Given the description of an element on the screen output the (x, y) to click on. 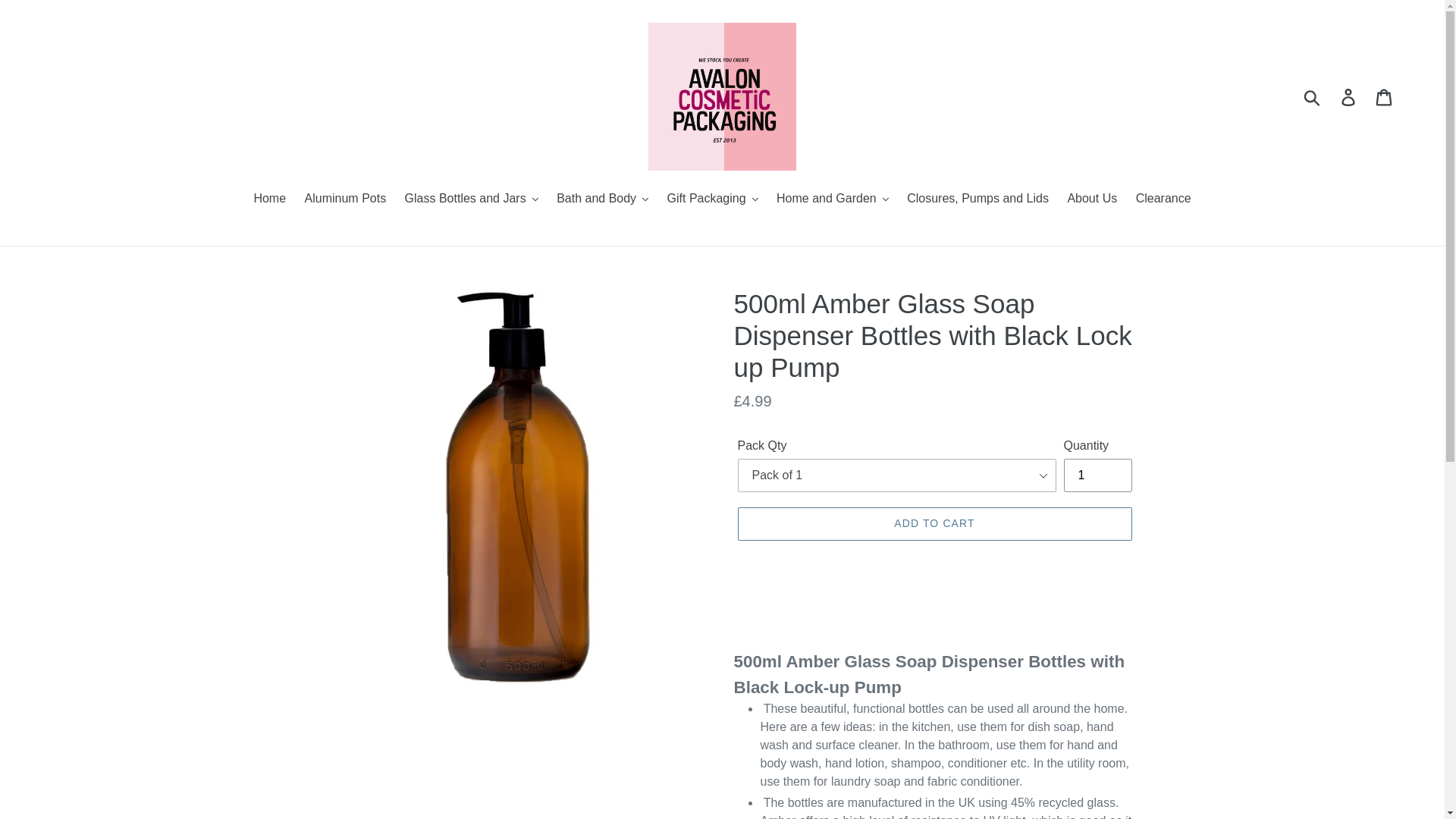
Log in (1349, 96)
Submit (1313, 96)
Cart (1385, 96)
1 (1096, 475)
